Given the description of an element on the screen output the (x, y) to click on. 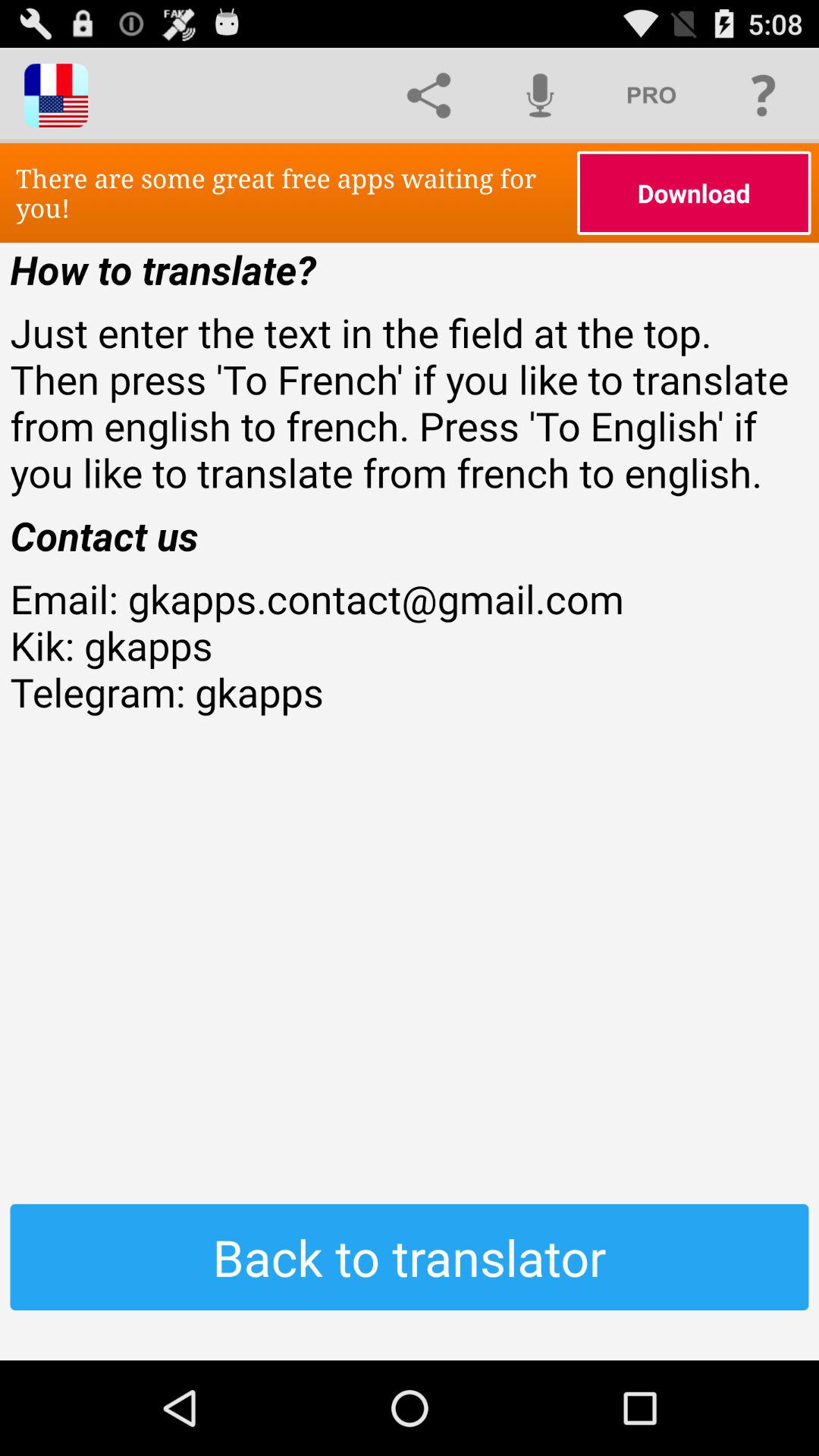
click the email gkapps contact (409, 691)
